Given the description of an element on the screen output the (x, y) to click on. 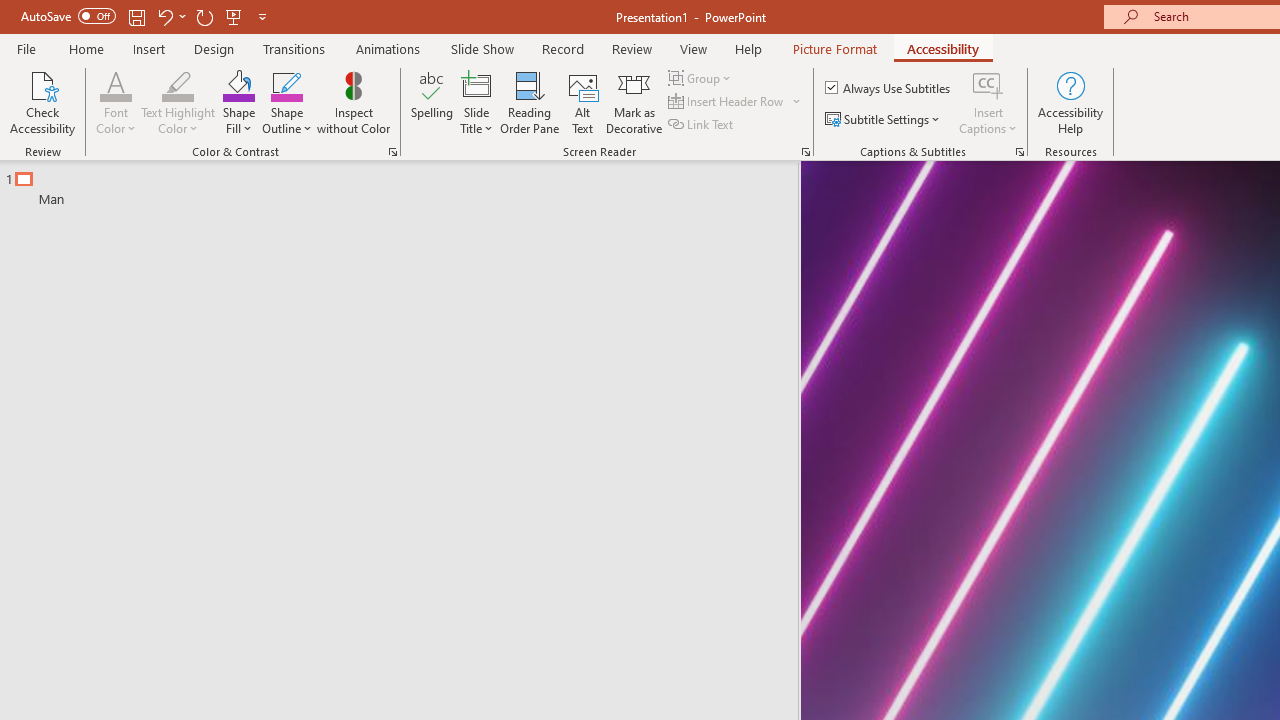
Redo (204, 15)
Spelling... (432, 102)
Slide Title (476, 84)
Shape Outline (286, 102)
Shape Fill Orange, Accent 2 (238, 84)
View (693, 48)
Font Color (116, 84)
Insert (149, 48)
Shape Outline Blue, Accent 1 (286, 84)
Font Color (116, 102)
From Beginning (234, 15)
Help (748, 48)
Text Highlight Color (178, 102)
Alt Text (582, 102)
Accessibility (942, 48)
